Given the description of an element on the screen output the (x, y) to click on. 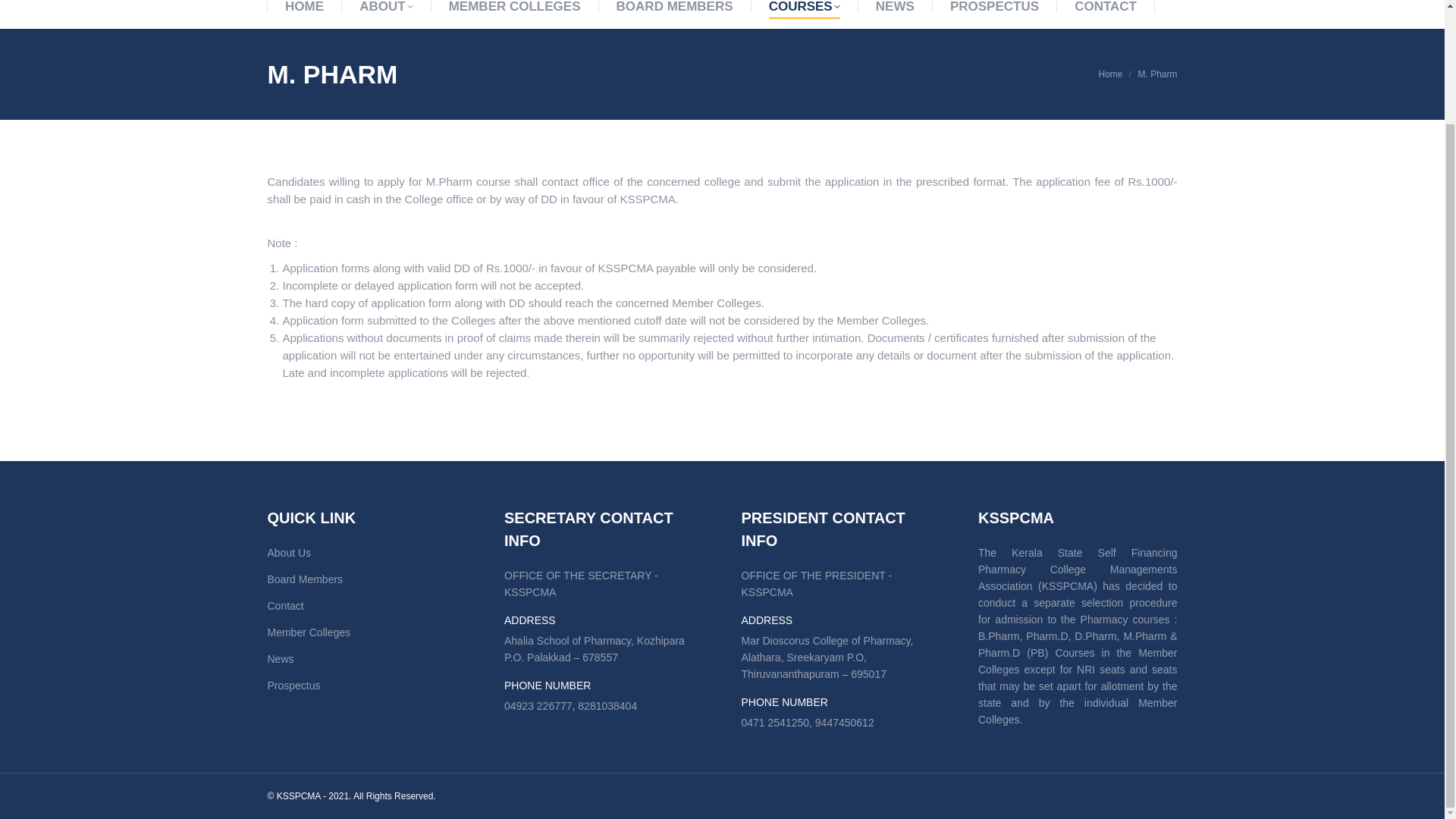
HOME (304, 8)
MEMBER COLLEGES (514, 8)
PROSPECTUS (994, 8)
CONTACT (1105, 8)
Home (1109, 73)
BOARD MEMBERS (674, 8)
ABOUT (385, 8)
NEWS (895, 8)
COURSES (804, 8)
